Given the description of an element on the screen output the (x, y) to click on. 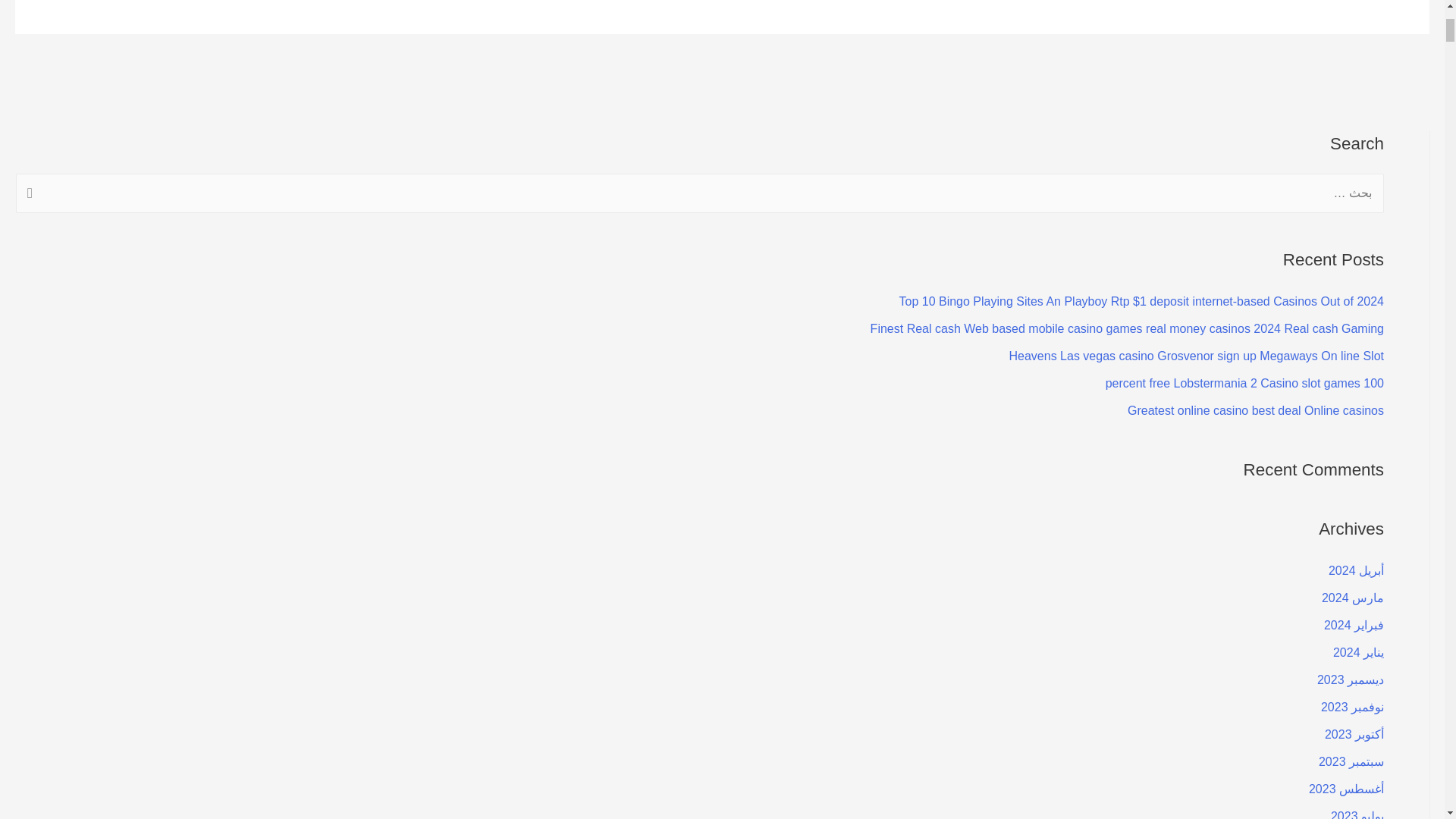
Greatest online casino best deal Online casinos (1255, 410)
100 percent free Lobstermania 2 Casino slot games (1244, 382)
